Given the description of an element on the screen output the (x, y) to click on. 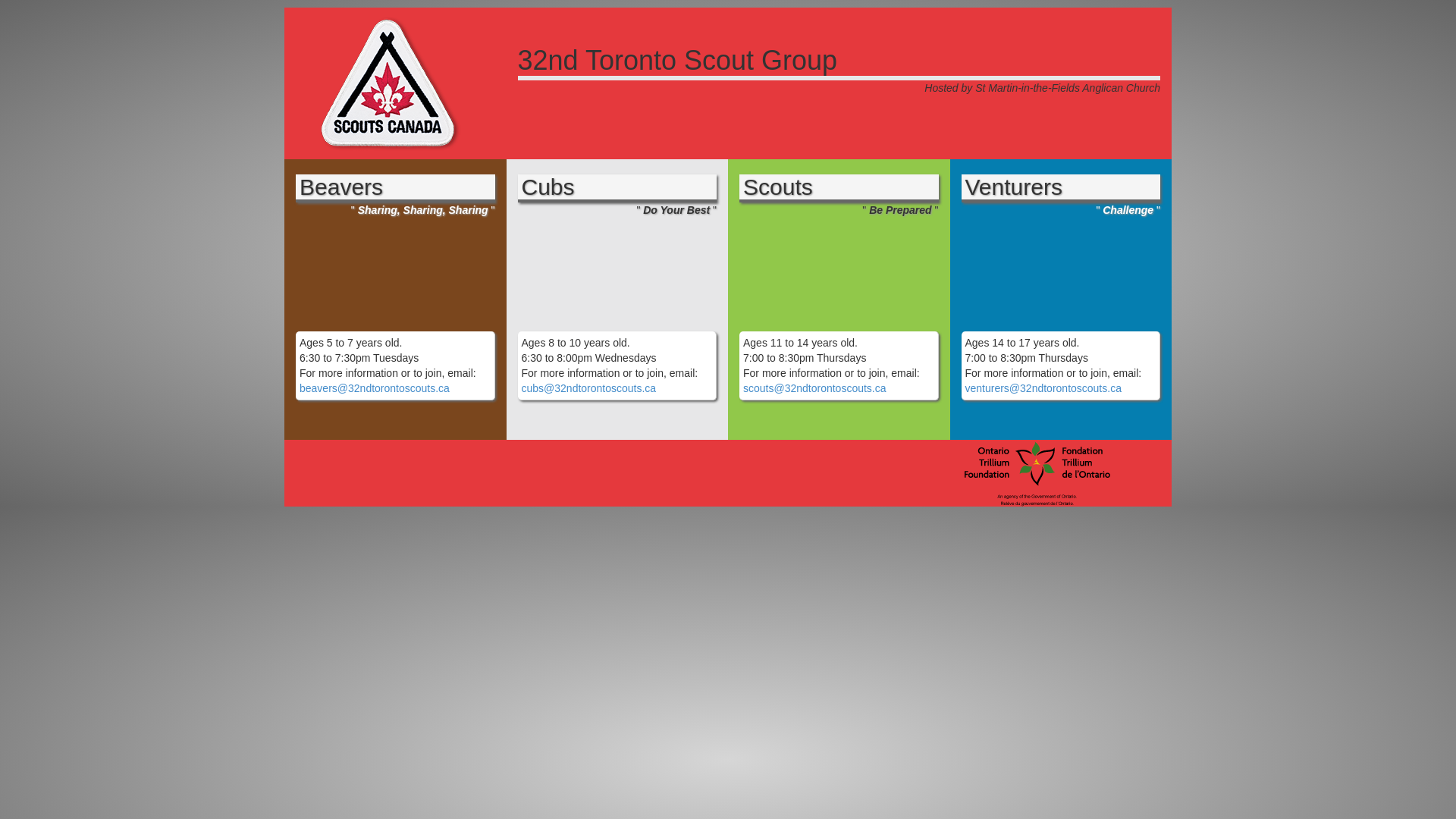
venturers@32ndtorontoscouts.ca Element type: text (1042, 388)
beavers@32ndtorontoscouts.ca Element type: text (374, 388)
cubs@32ndtorontoscouts.ca Element type: text (588, 388)
scouts@32ndtorontoscouts.ca Element type: text (814, 388)
